Given the description of an element on the screen output the (x, y) to click on. 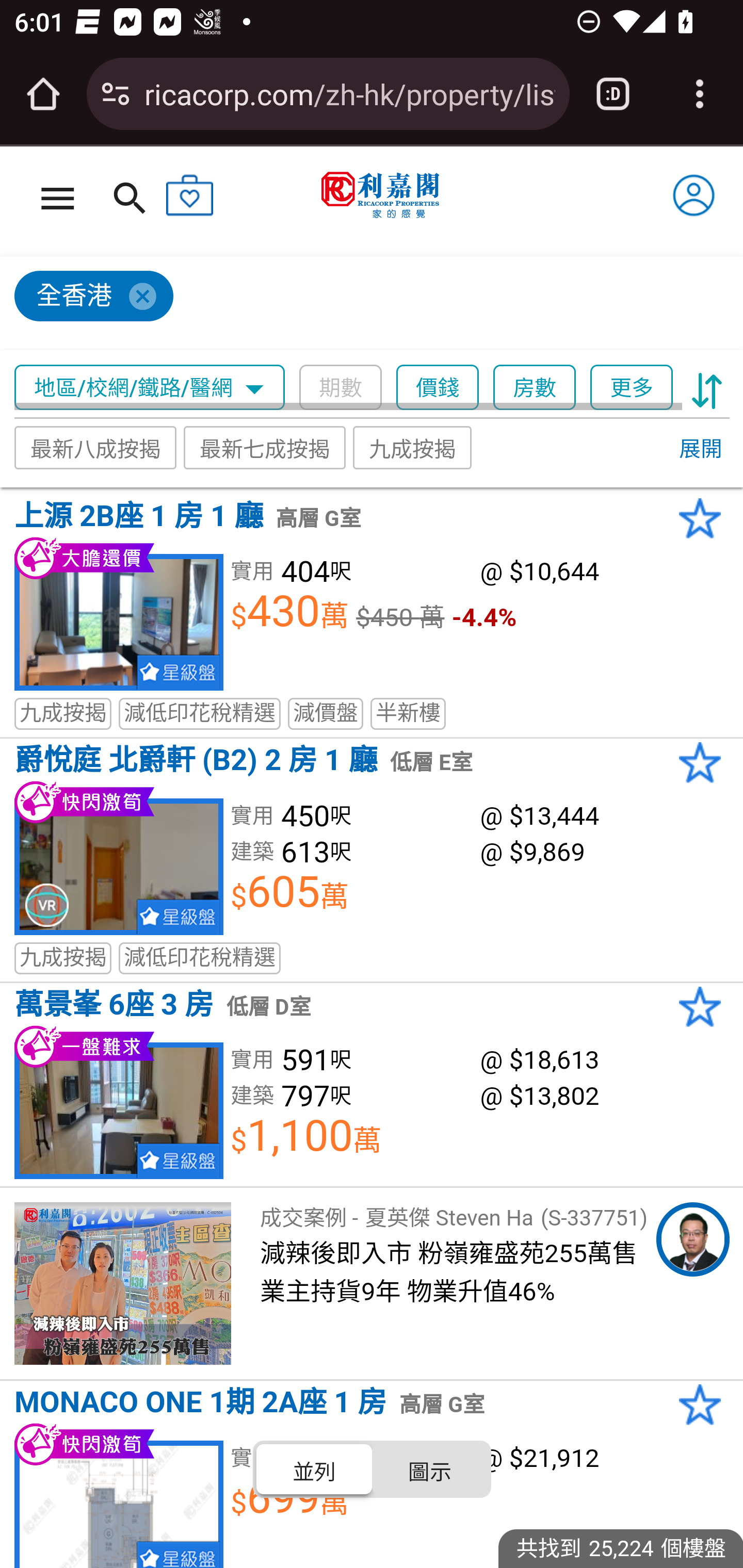
Open the home page (43, 93)
Connection is secure (115, 93)
Switch or close tabs (612, 93)
Customize and control Google Chrome (699, 93)
ricacorp.com/zh-hk/property/list/buy (349, 92)
全香港 (363, 304)
地區/校網/鐵路/醫網 (149, 387)
期數 (339, 387)
價錢 (437, 387)
房數 (535, 387)
更多 (630, 387)
sort (706, 387)
最新八成按揭 (96, 446)
最新七成按揭 (264, 446)
九成按揭 (412, 446)
並列 (314, 1468)
圖示 (429, 1468)
